Given the description of an element on the screen output the (x, y) to click on. 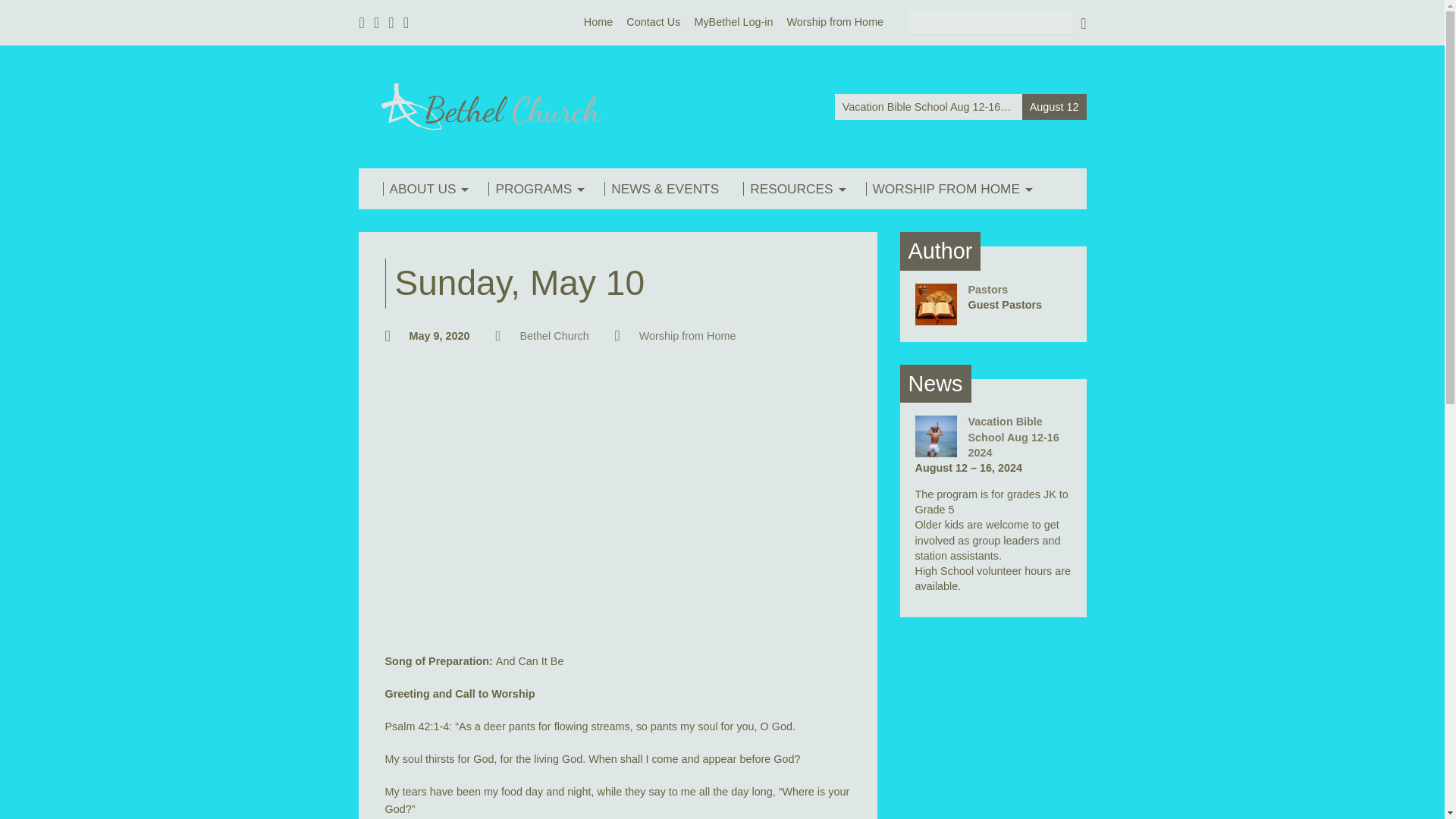
BethelMay10 (617, 506)
Contact Us (652, 21)
Vacation Bible School Aug 12-16 2024 (935, 449)
ABOUT US (422, 188)
PROGRAMS (533, 188)
Vacation Bible School Aug 12-16 2024 (1013, 436)
MyBethel Log-in (733, 21)
Pastors (935, 317)
Pastors (987, 289)
Home (597, 21)
RESOURCES (791, 188)
WORSHIP FROM HOME (946, 188)
Vacation Bible School Aug 12-16 2024 (960, 107)
Worship from Home (834, 21)
